Given the description of an element on the screen output the (x, y) to click on. 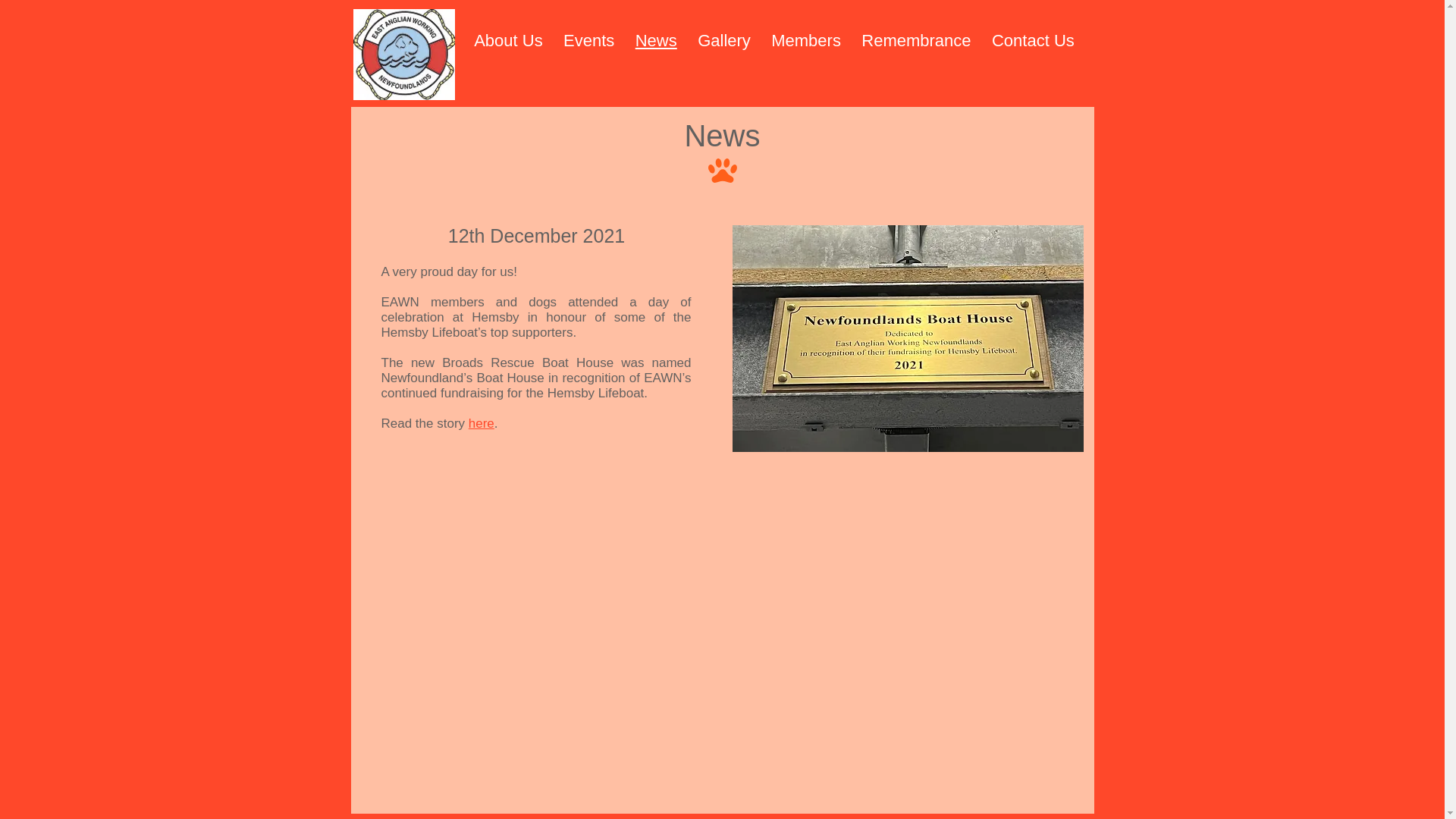
Contact Us (1032, 40)
Remembrance (916, 40)
Gallery (723, 40)
Events (774, 40)
News (588, 40)
here (655, 40)
Members (481, 423)
About Us (806, 40)
